Given the description of an element on the screen output the (x, y) to click on. 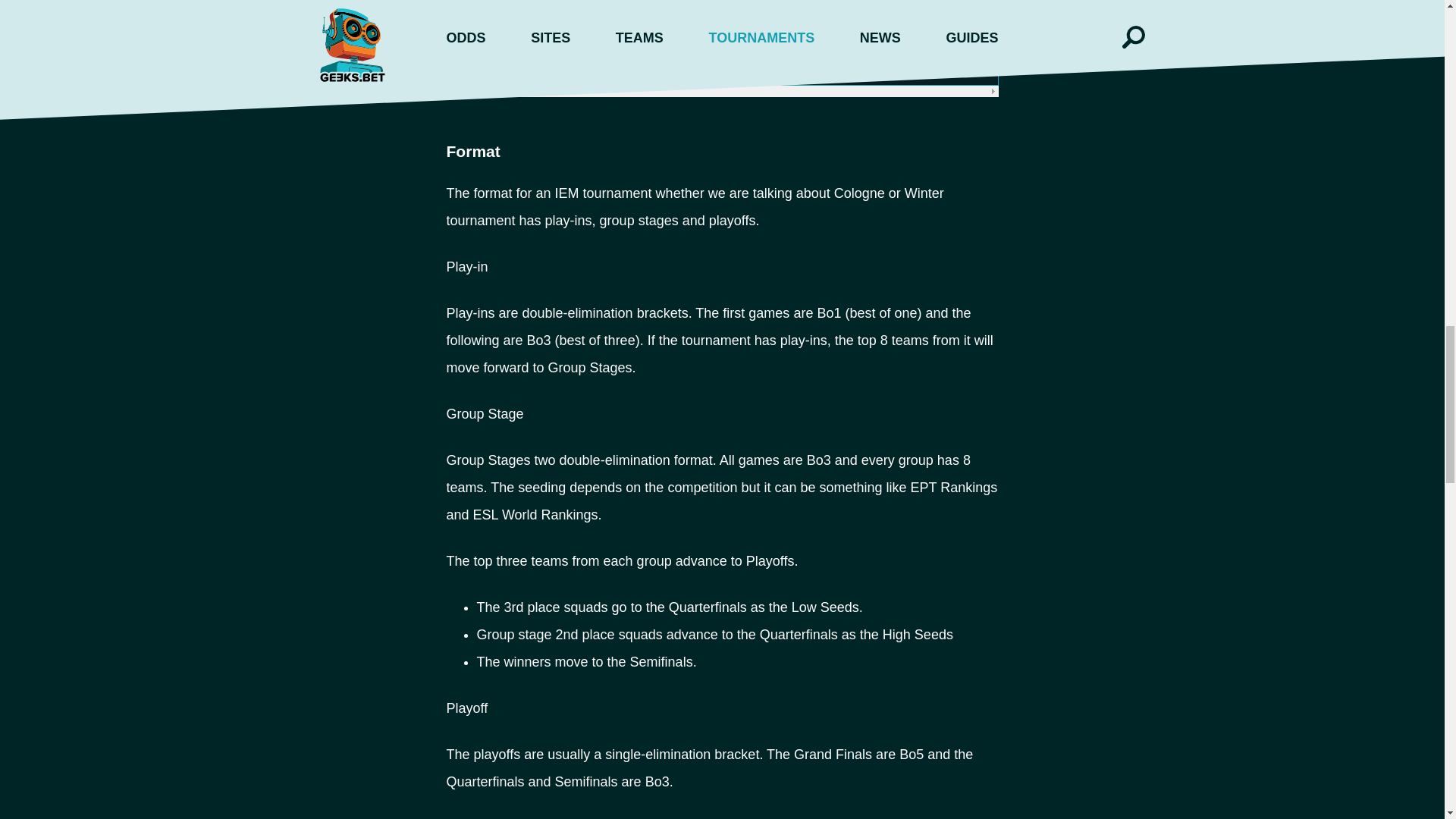
Cologne (488, 68)
Dallas (481, 37)
Katowice (490, 6)
